Given the description of an element on the screen output the (x, y) to click on. 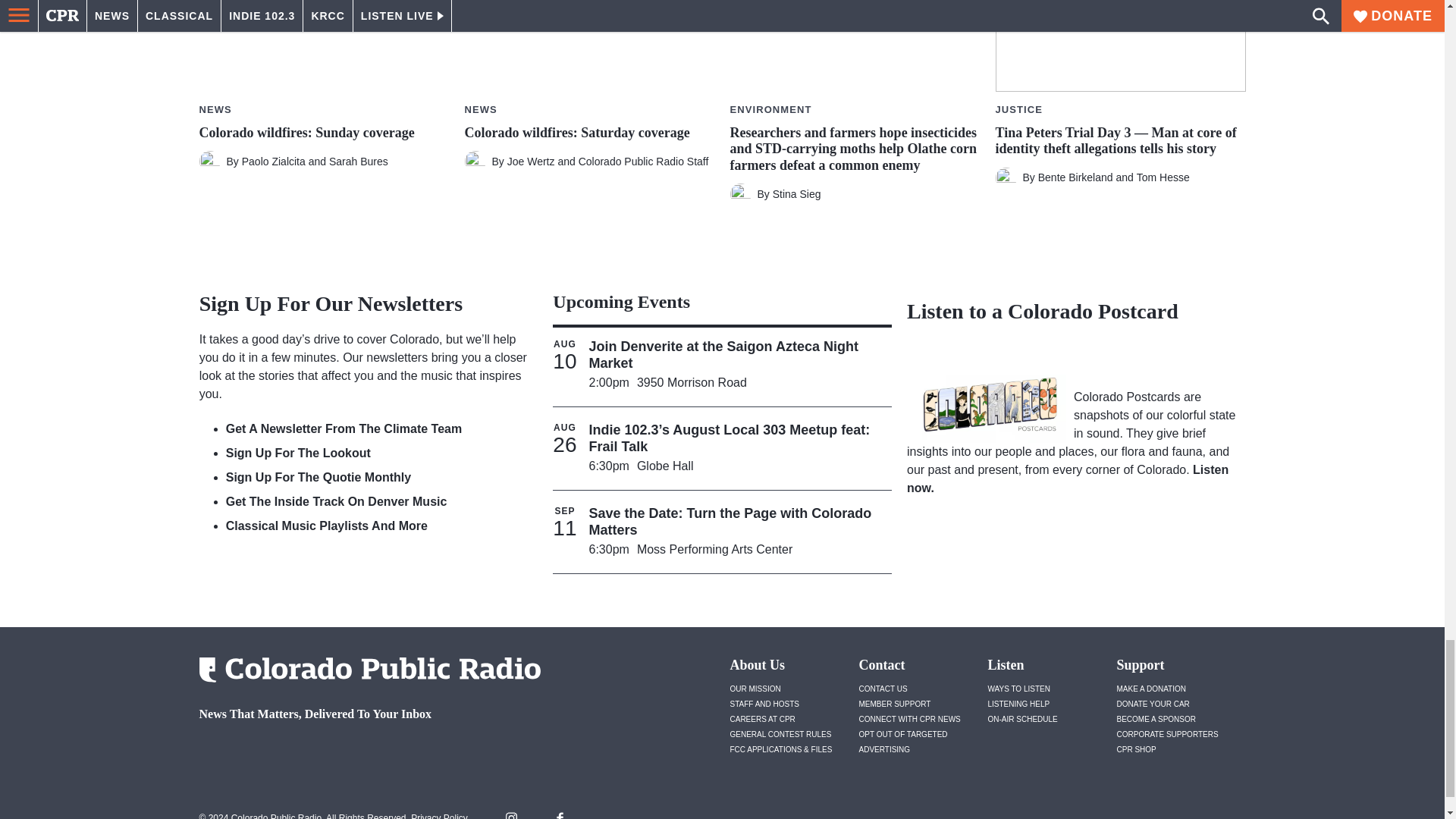
footer (364, 753)
